Given the description of an element on the screen output the (x, y) to click on. 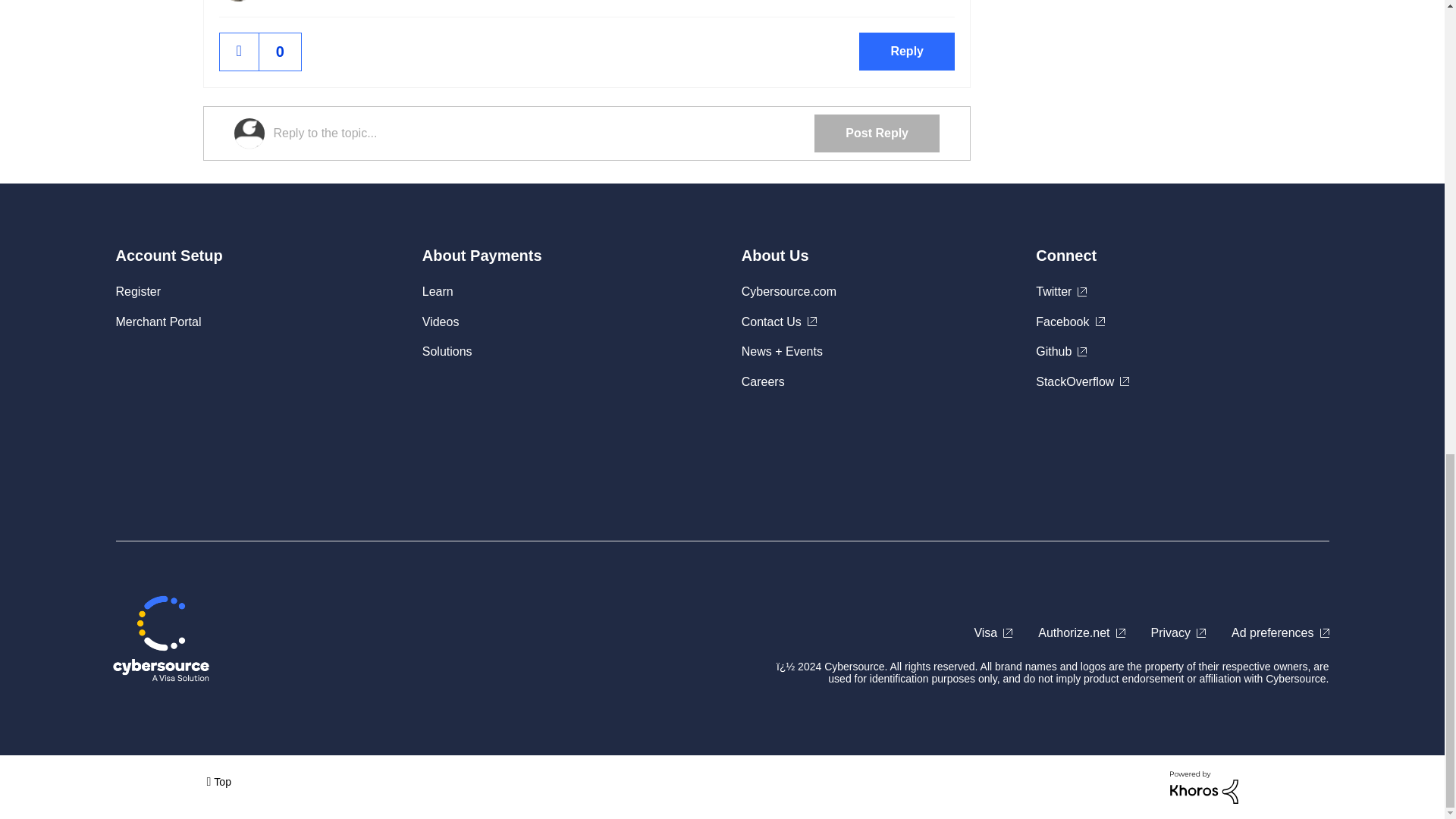
onhax (237, 0)
The total number of kudos this post has received. (280, 51)
Top (218, 780)
Top (218, 780)
Click here to give kudos to this post. (239, 51)
